Given the description of an element on the screen output the (x, y) to click on. 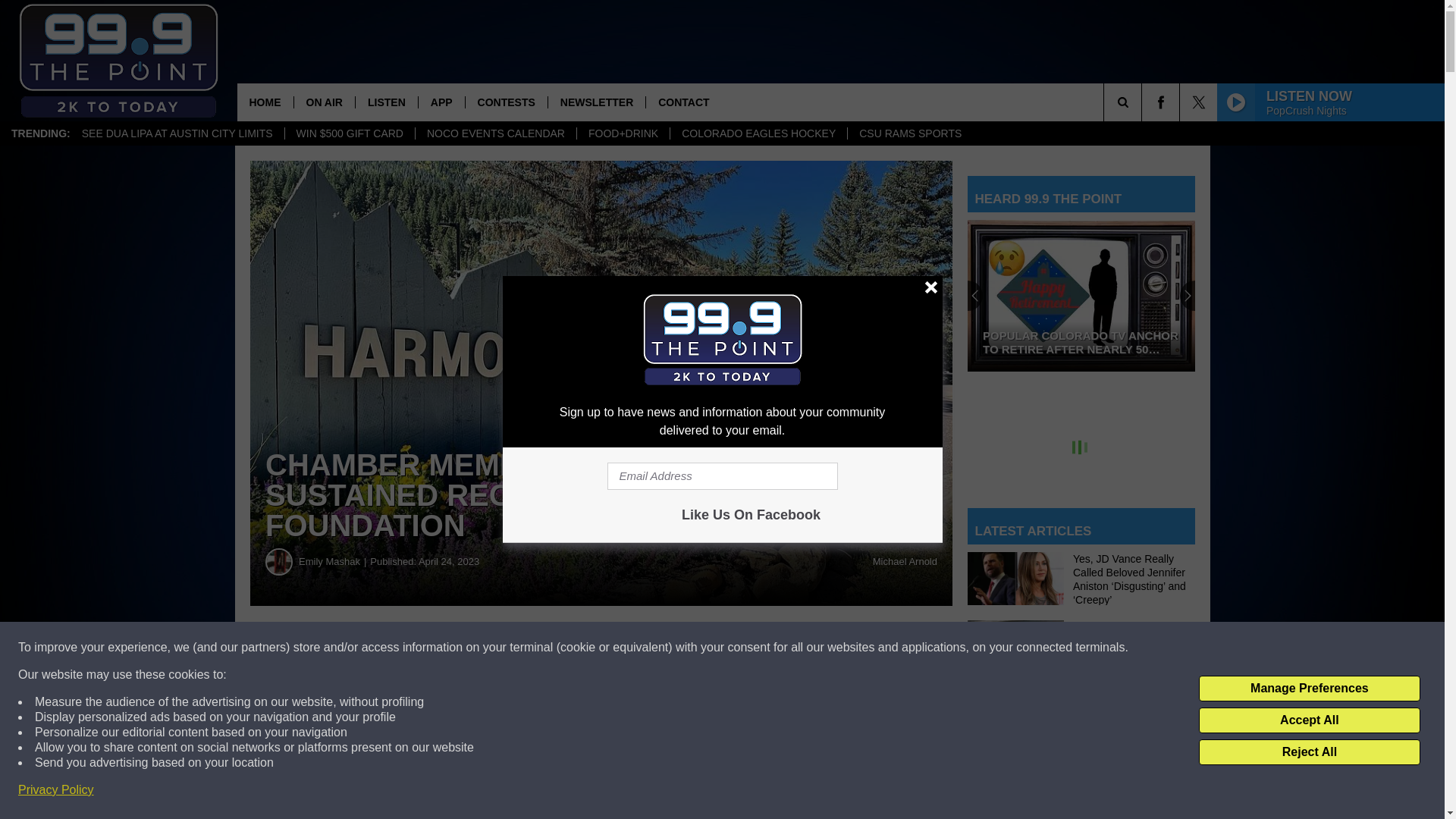
NEWSLETTER (596, 102)
SEE DUA LIPA AT AUSTIN CITY LIMITS (176, 133)
CONTACT (682, 102)
CONTESTS (505, 102)
HOME (263, 102)
COLORADO EAGLES HOCKEY (758, 133)
Accept All (1309, 720)
Privacy Policy (55, 789)
SEARCH (1144, 102)
LISTEN (386, 102)
APP (440, 102)
CSU RAMS SPORTS (909, 133)
NOCO EVENTS CALENDAR (495, 133)
Manage Preferences (1309, 688)
SEARCH (1144, 102)
